Given the description of an element on the screen output the (x, y) to click on. 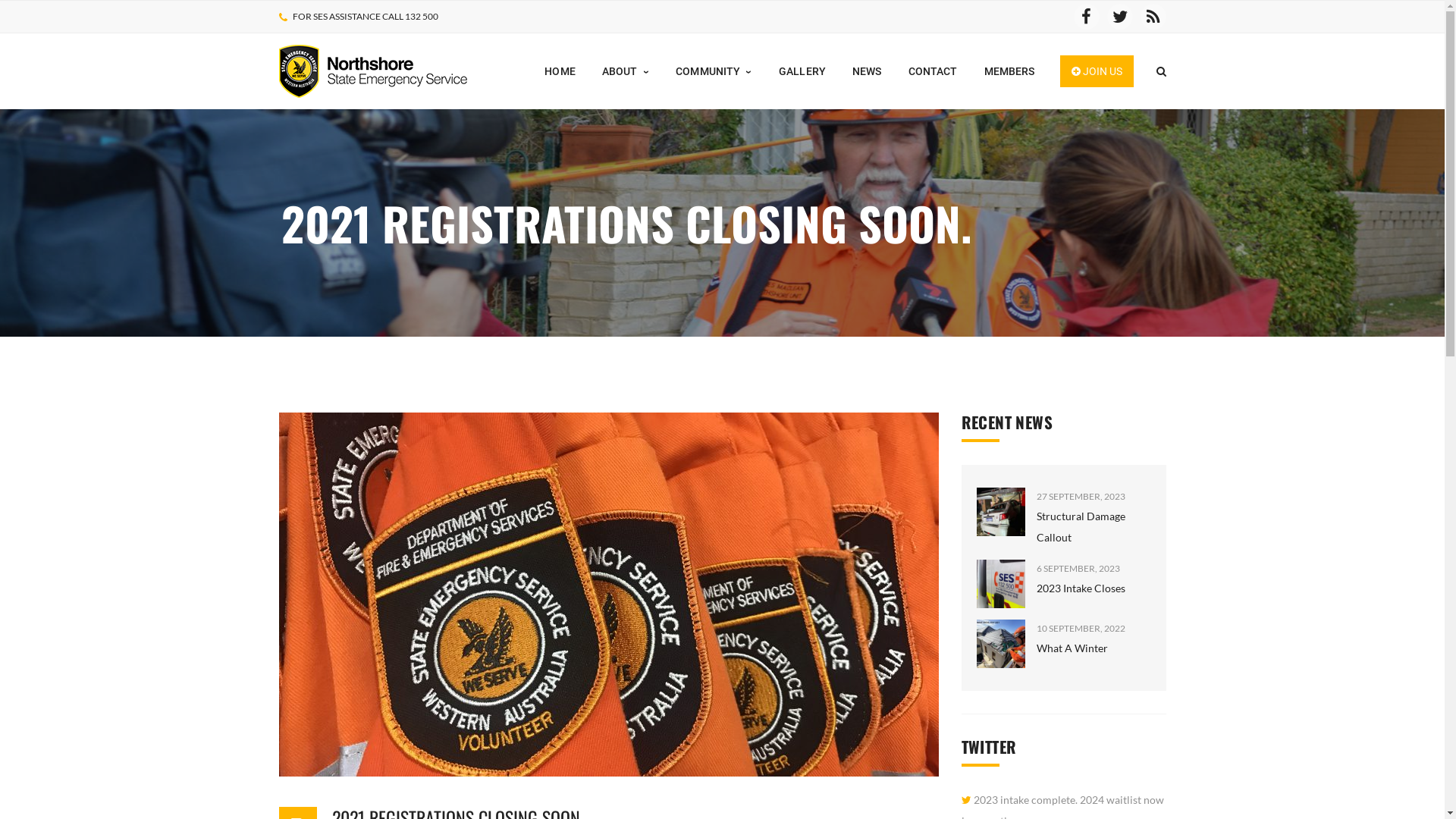
JOIN US Element type: text (1096, 71)
2021 Registrations Closing Soon. Element type: hover (608, 594)
Structural Damage Callout Element type: hover (1000, 511)
NEWS Element type: text (866, 71)
CONTACT Element type: text (932, 71)
GALLERY Element type: text (801, 71)
MEMBERS Element type: text (1009, 71)
COMMUNITY Element type: text (713, 71)
2023 Intake Closes Element type: hover (1000, 583)
ABOUT Element type: text (625, 71)
What A Winter Element type: hover (1000, 643)
What A Winter Element type: text (1071, 647)
2023 Intake Closes Element type: text (1079, 587)
Structural Damage Callout Element type: text (1079, 526)
HOME Element type: text (559, 71)
